Given the description of an element on the screen output the (x, y) to click on. 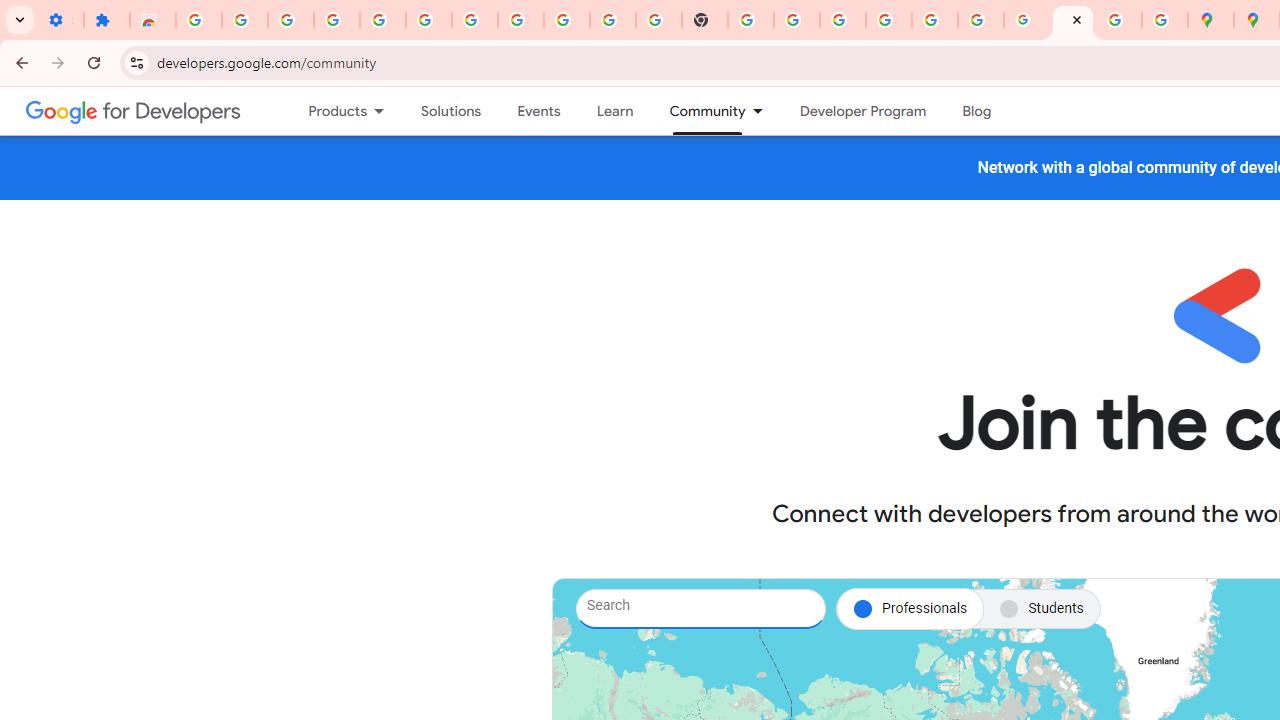
Community, selected (698, 111)
Dropdown menu for Products (385, 111)
Sign in - Google Accounts (474, 20)
Learn how to find your photos - Google Photos Help (382, 20)
Safety in Our Products - Google Safety Center (1164, 20)
Blog (976, 111)
Settings - On startup (60, 20)
YouTube (613, 20)
Learning Catalog (614, 111)
